Given the description of an element on the screen output the (x, y) to click on. 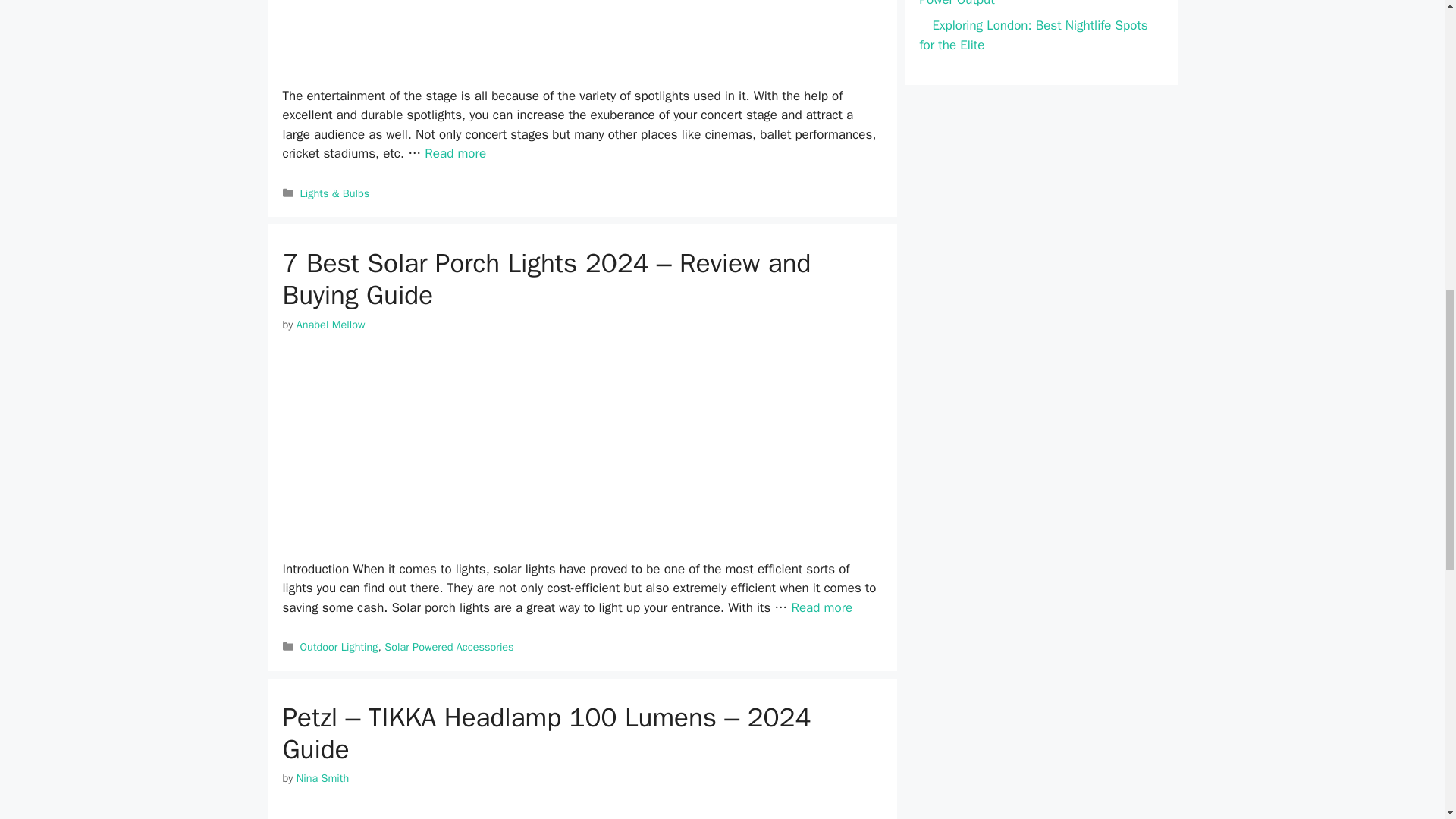
Nina Smith (323, 777)
Scroll back to top (1406, 720)
Outdoor Lighting (338, 646)
View all posts by Nina Smith (323, 777)
Read more (455, 153)
Anabel Mellow (331, 324)
View all posts by Anabel Mellow (331, 324)
Solar Powered Accessories (448, 646)
Read more (820, 607)
